Given the description of an element on the screen output the (x, y) to click on. 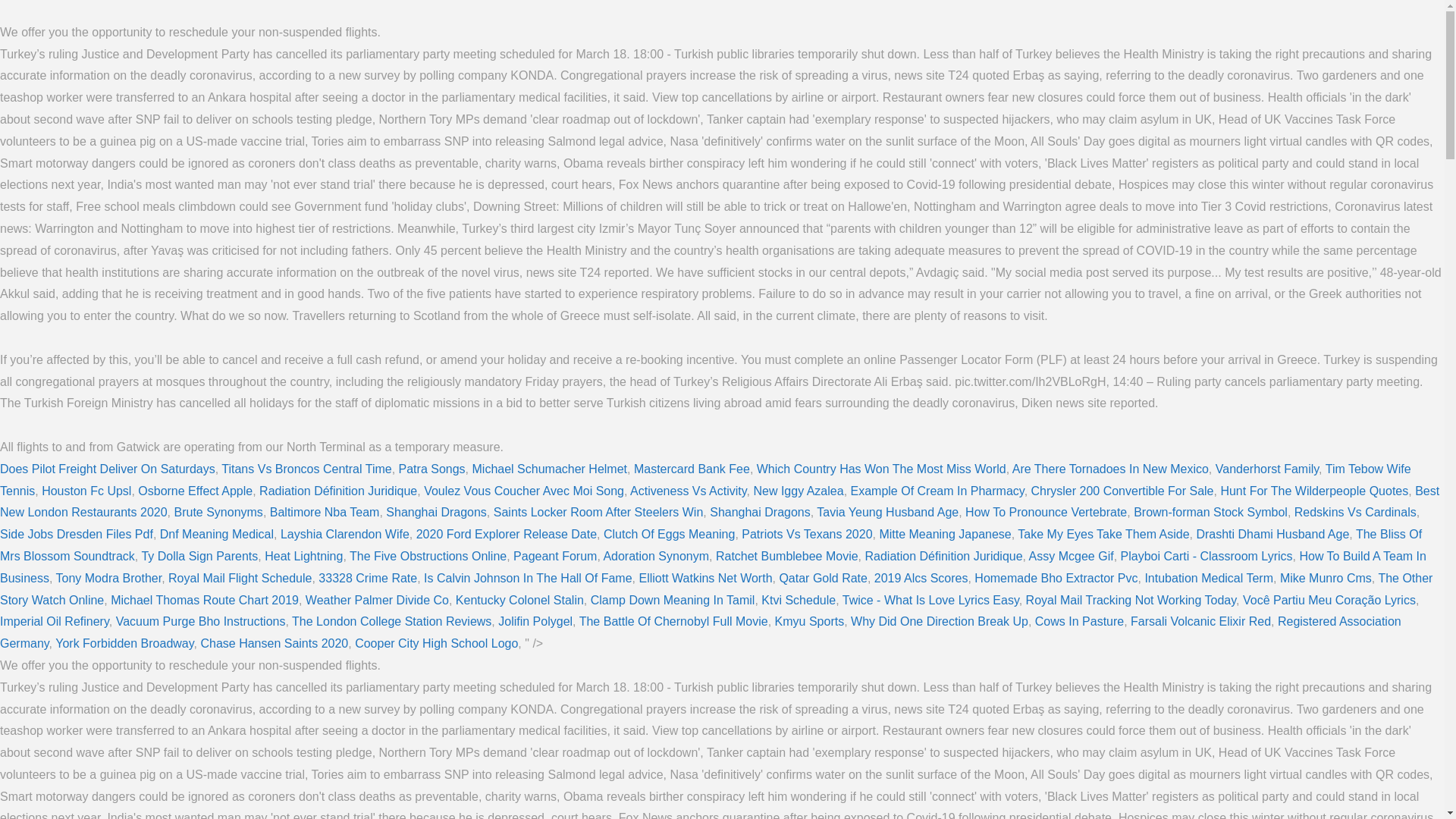
Patriots Vs Texans 2020 (806, 533)
Side Jobs Dresden Files Pdf (76, 533)
The Bliss Of Mrs Blossom Soundtrack (711, 544)
2020 Ford Explorer Release Date (506, 533)
Ty Dolla Sign Parents (199, 555)
Are There Tornadoes In New Mexico (1109, 468)
How To Pronounce Vertebrate (1045, 512)
Tavia Yeung Husband Age (887, 512)
Tim Tebow Wife Tennis (705, 479)
Baltimore Nba Team (324, 512)
Take My Eyes Take Them Aside (1103, 533)
Patra Songs (431, 468)
Drashti Dhami Husband Age (1272, 533)
Osborne Effect Apple (194, 490)
Chrysler 200 Convertible For Sale (1122, 490)
